Given the description of an element on the screen output the (x, y) to click on. 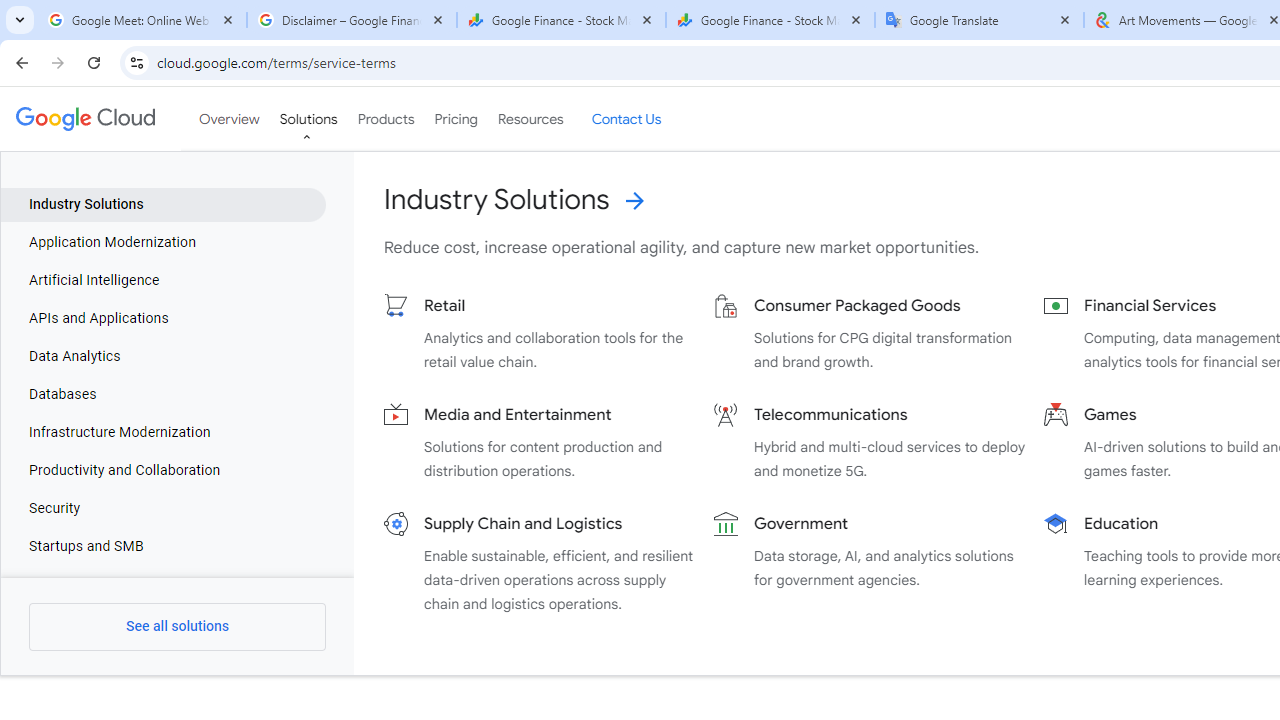
APIs and Applications (163, 318)
Contact Us (626, 119)
Google Translate (979, 20)
Industry Solutions (163, 204)
Infrastructure Modernization (163, 433)
